Given the description of an element on the screen output the (x, y) to click on. 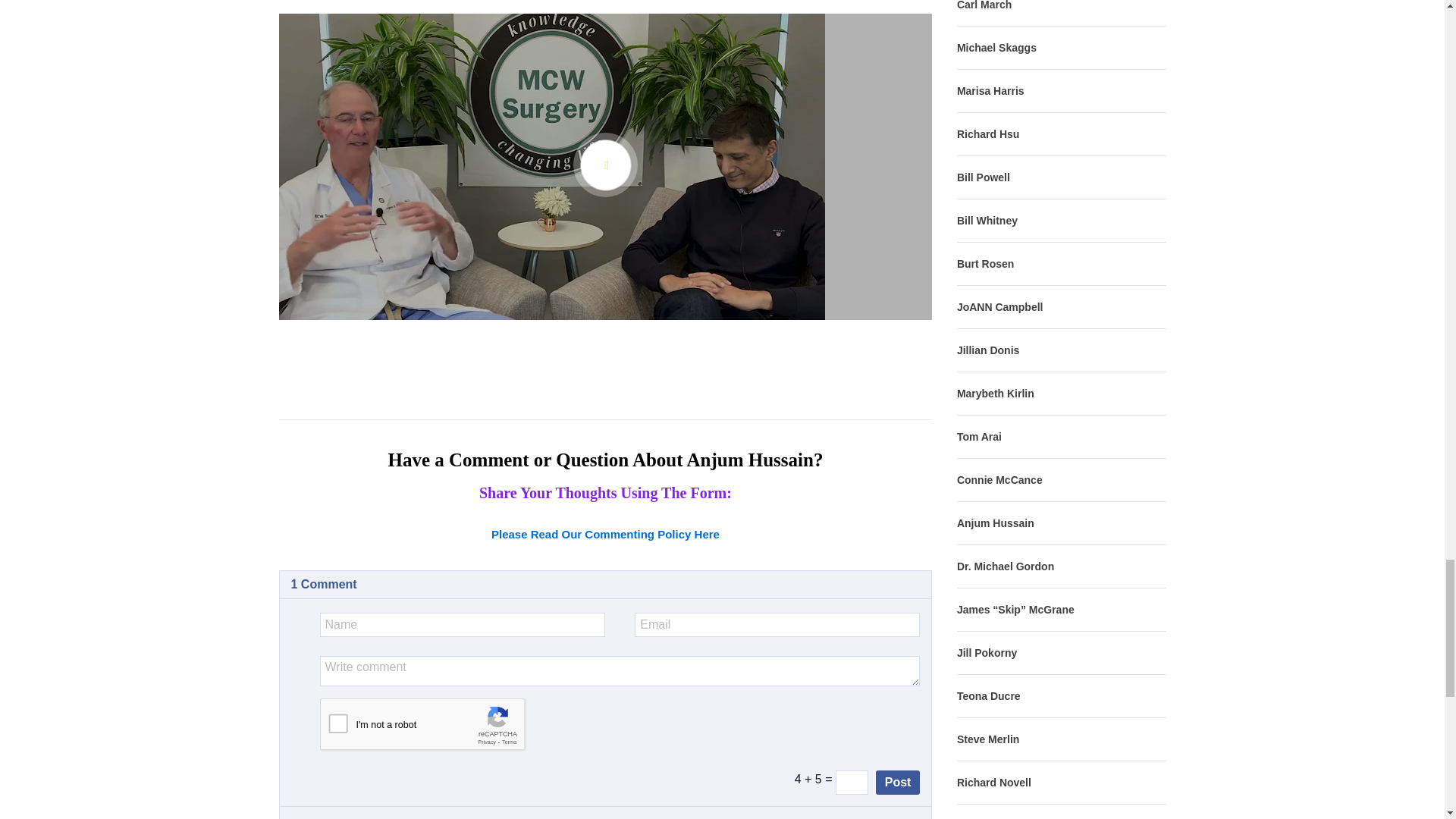
1 Comment (323, 584)
reCAPTCHA (435, 727)
Post (898, 782)
Gohar sajjad (356, 818)
